Given the description of an element on the screen output the (x, y) to click on. 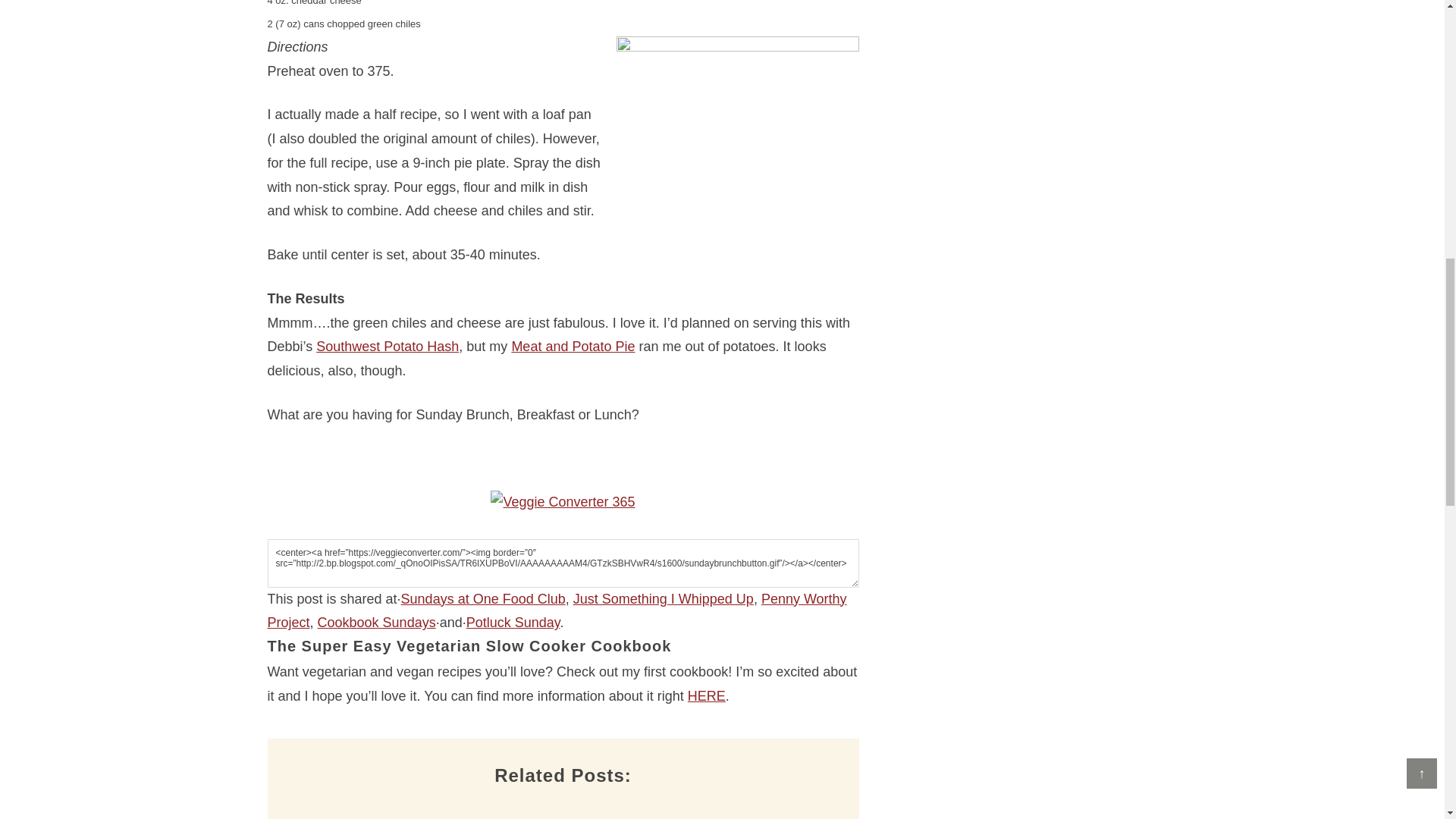
Penny Worthy Project (555, 610)
Vegetarian Game Day Recipe Round-up (403, 809)
CINNAMON CRANBERRY ORANGE JUMBLE LOAF (578, 809)
Cinnamon Cranberry Orange Jumble Loaf (578, 809)
Southwest Potato Hash (386, 346)
Veggie Converter 365 (562, 501)
HERE (706, 695)
Start Your Journey Toward Financial Independence (751, 809)
Cookbook Sundays (376, 622)
Meat and Potato Pie (572, 346)
Just Something I Whipped Up (663, 598)
Sundays at One Food Club (483, 598)
Potluck Sunday (512, 622)
VEGETARIAN GAME DAY RECIPE ROUND-UP (403, 809)
